Given the description of an element on the screen output the (x, y) to click on. 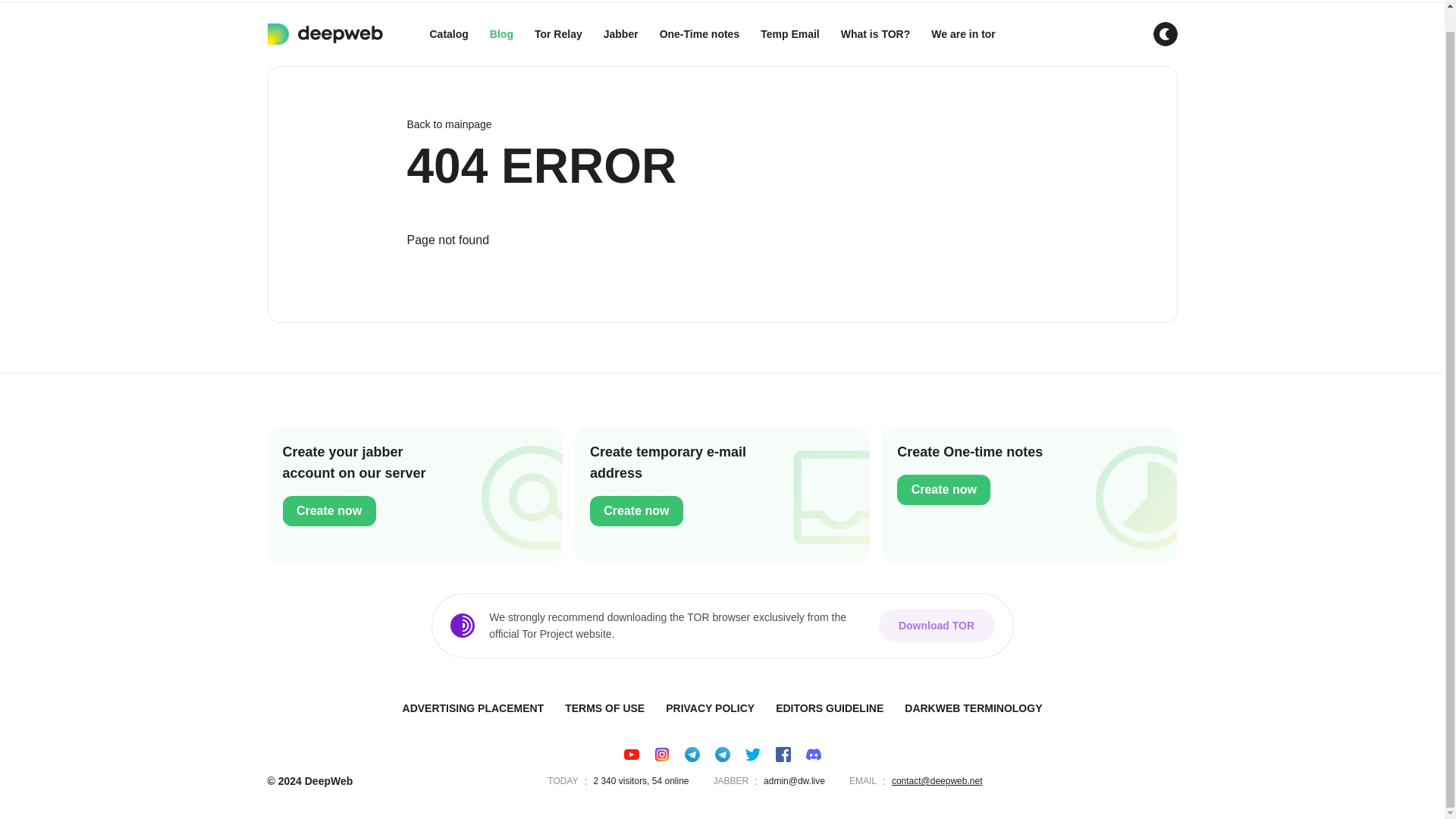
Blog (501, 34)
PRIVACY POLICY (710, 708)
What is TOR? (875, 34)
Twitter (752, 754)
ADVERTISING PLACEMENT (472, 708)
PocketDarkBot (691, 754)
Temp Email (789, 34)
Facebook (782, 754)
Download TOR (935, 625)
Instagram (660, 754)
